Given the description of an element on the screen output the (x, y) to click on. 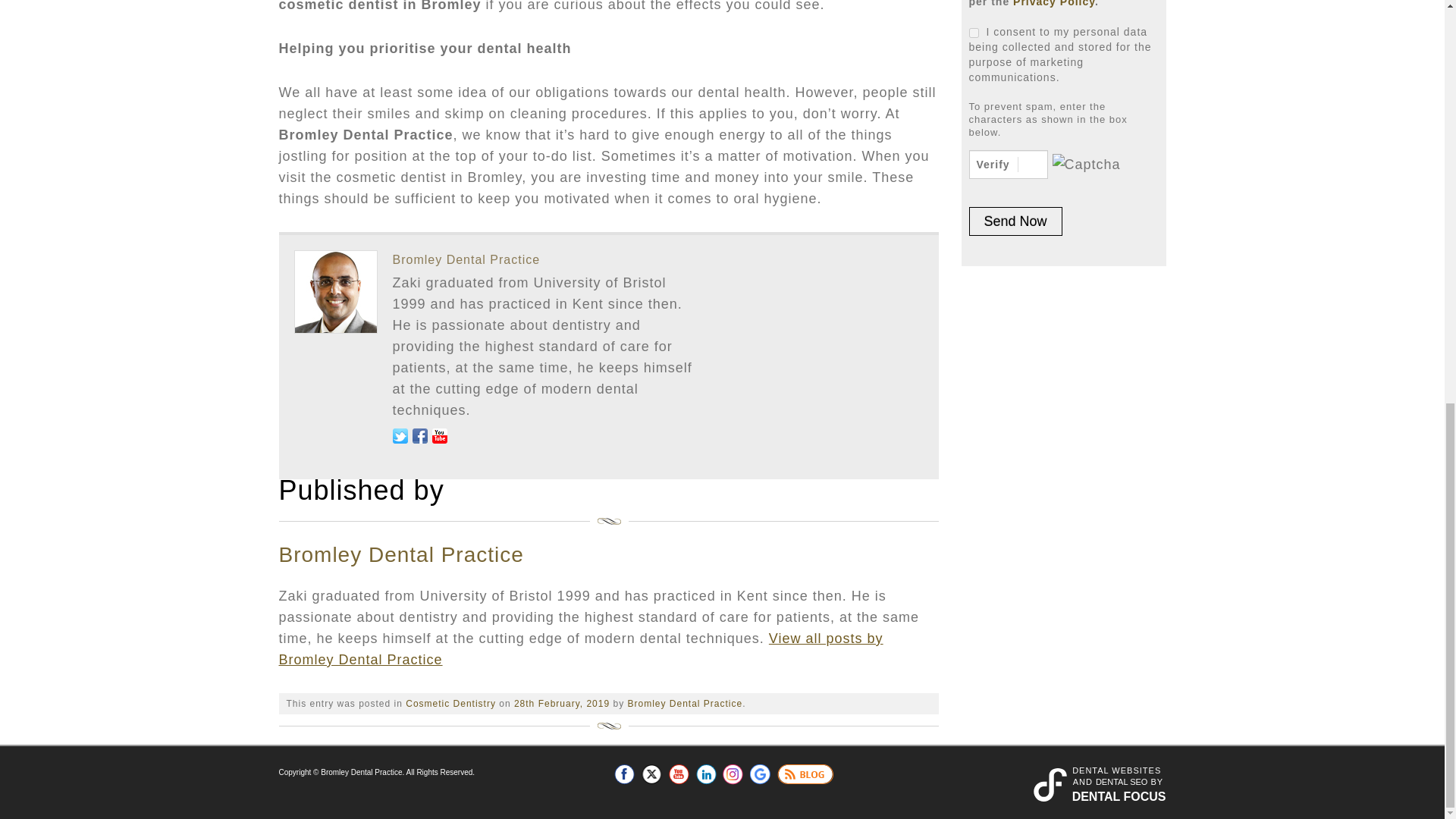
LinkedIn (705, 774)
Send Now (1015, 221)
View all posts by Bromley Dental Practice (684, 703)
Google My Business (759, 774)
Facebook (624, 774)
Bromley Dental Practice (466, 259)
Instagram (732, 774)
Privacy Policy (1053, 3)
Twitter (652, 774)
Send Now (1015, 221)
Instagram (732, 774)
Google My Business (759, 774)
Cosmetic Dentistry (451, 703)
Twitter (652, 774)
Blog (804, 774)
